Given the description of an element on the screen output the (x, y) to click on. 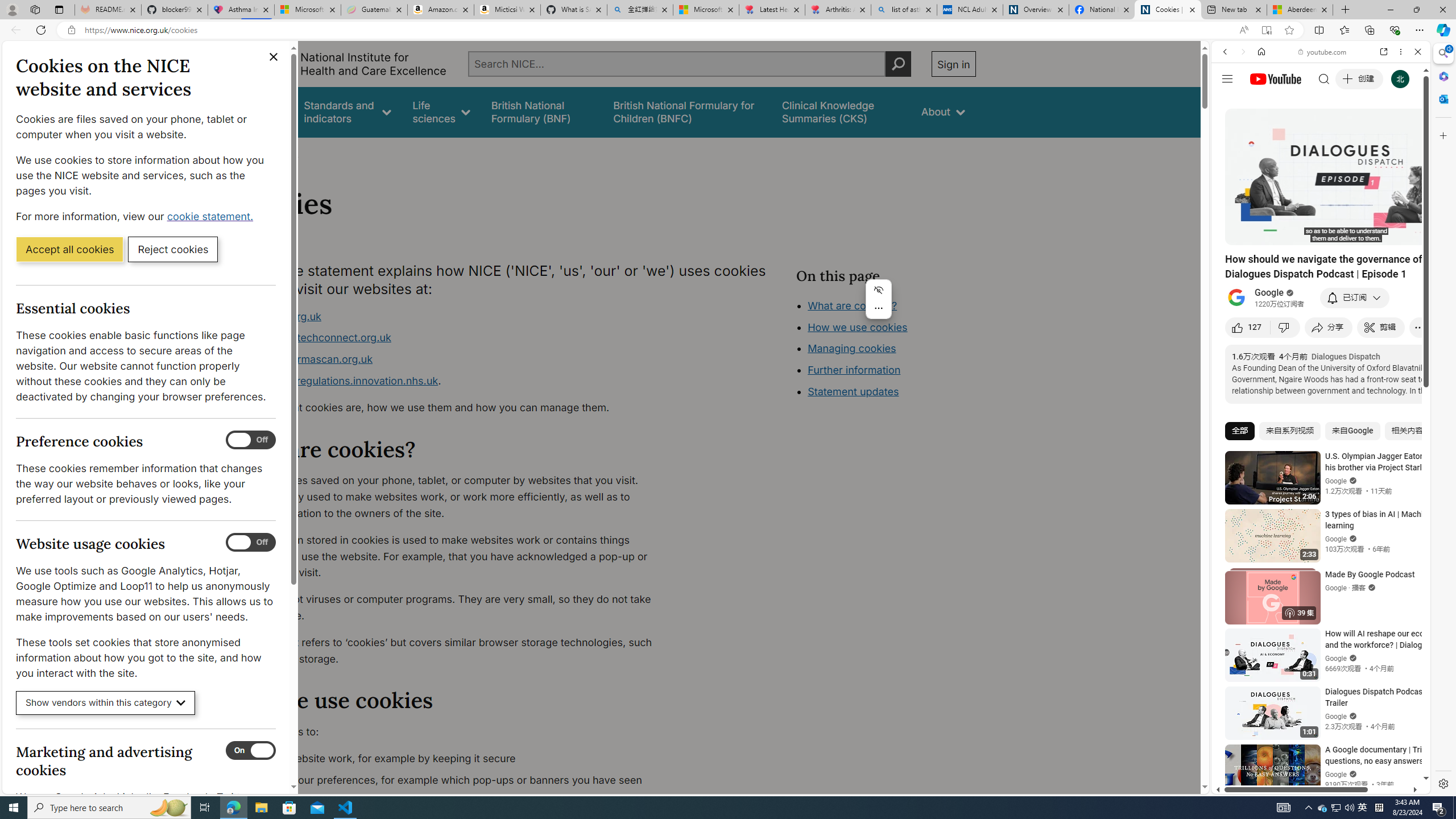
Website usage cookies (250, 542)
www.ukpharmascan.org.uk (452, 359)
British National Formulary for Children (BNFC) (686, 111)
www.healthtechconnect.org.uk (452, 338)
